Given the description of an element on the screen output the (x, y) to click on. 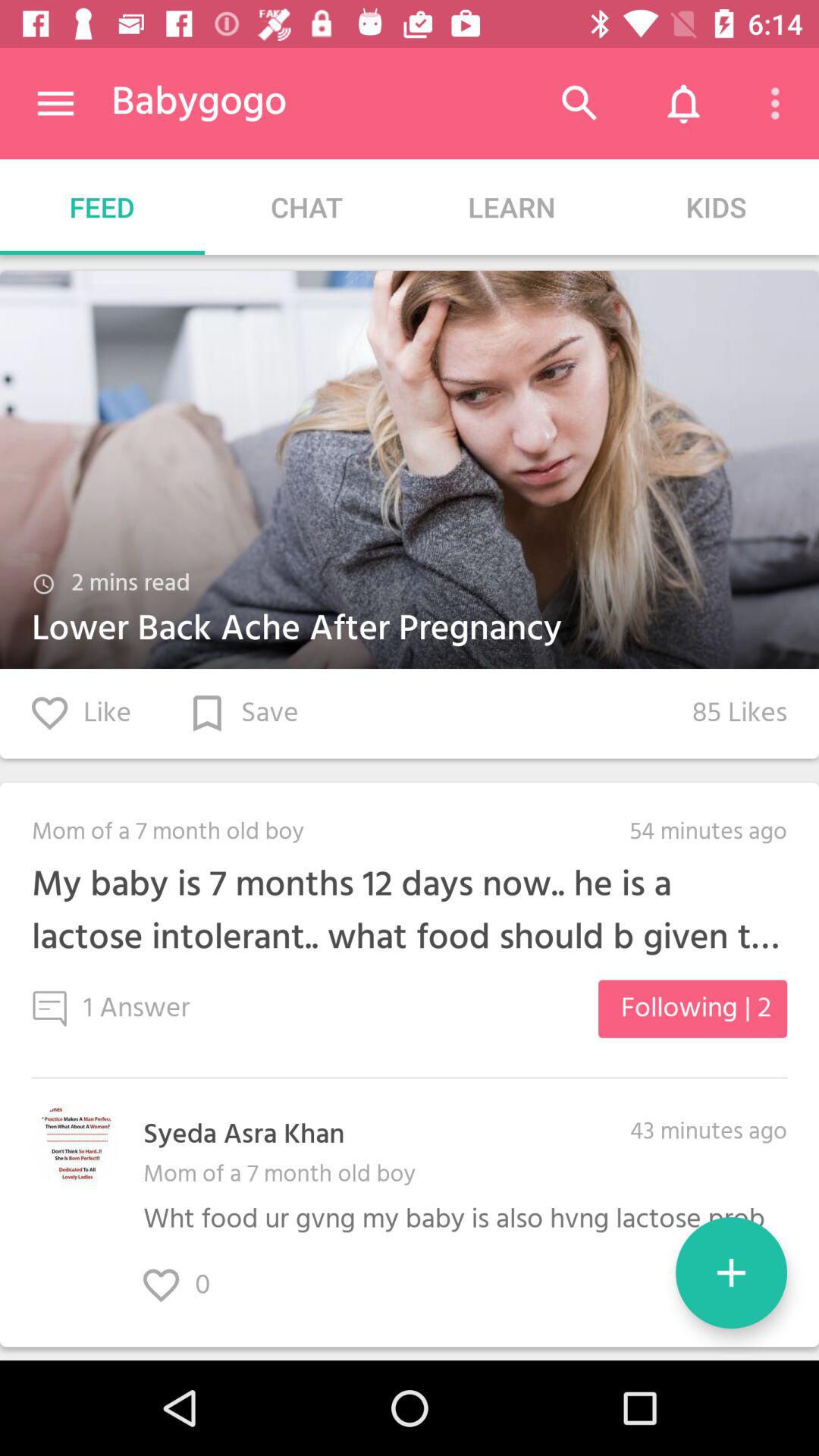
open new tab (731, 1272)
